Given the description of an element on the screen output the (x, y) to click on. 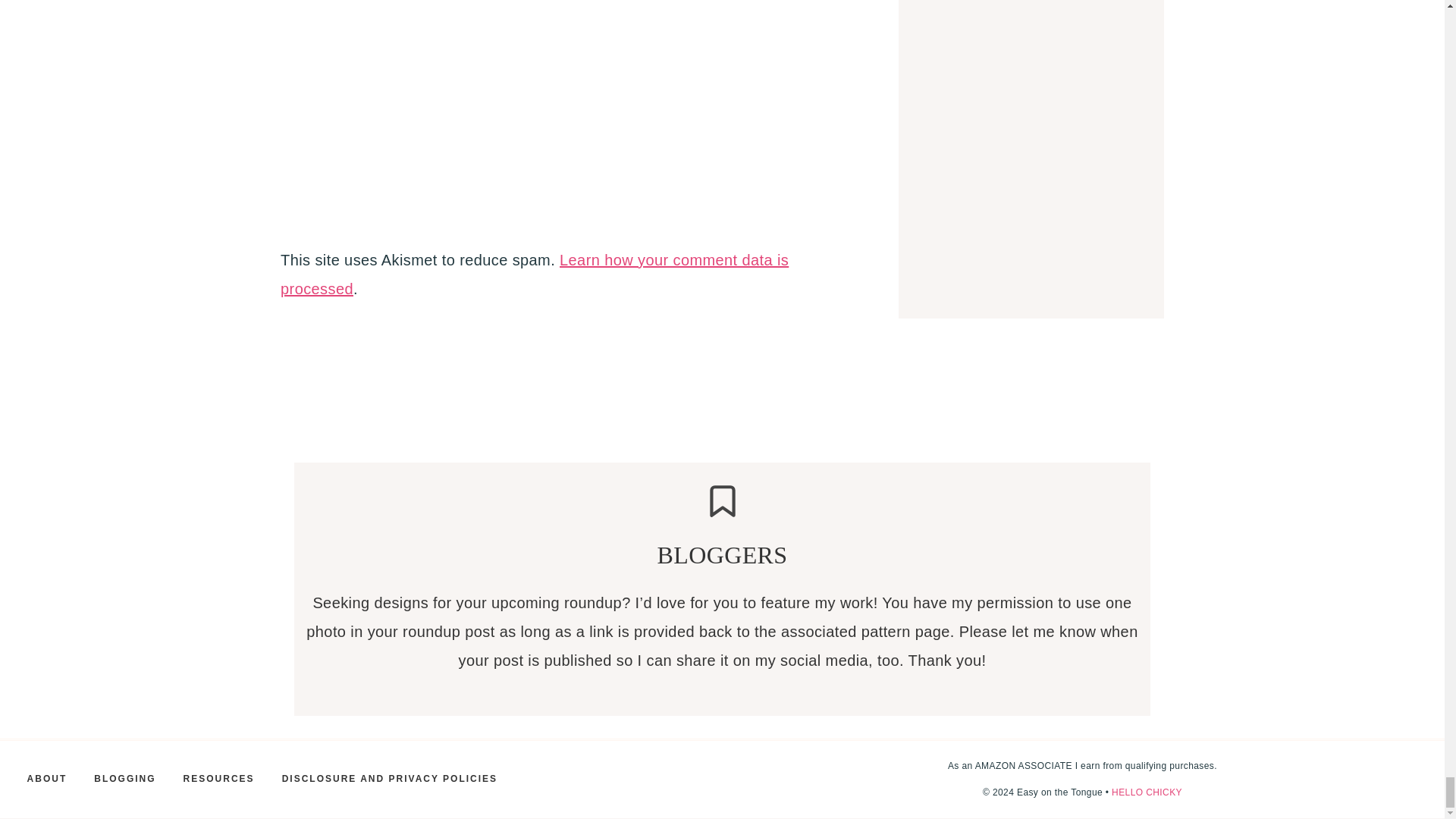
Comment Form (563, 113)
